Given the description of an element on the screen output the (x, y) to click on. 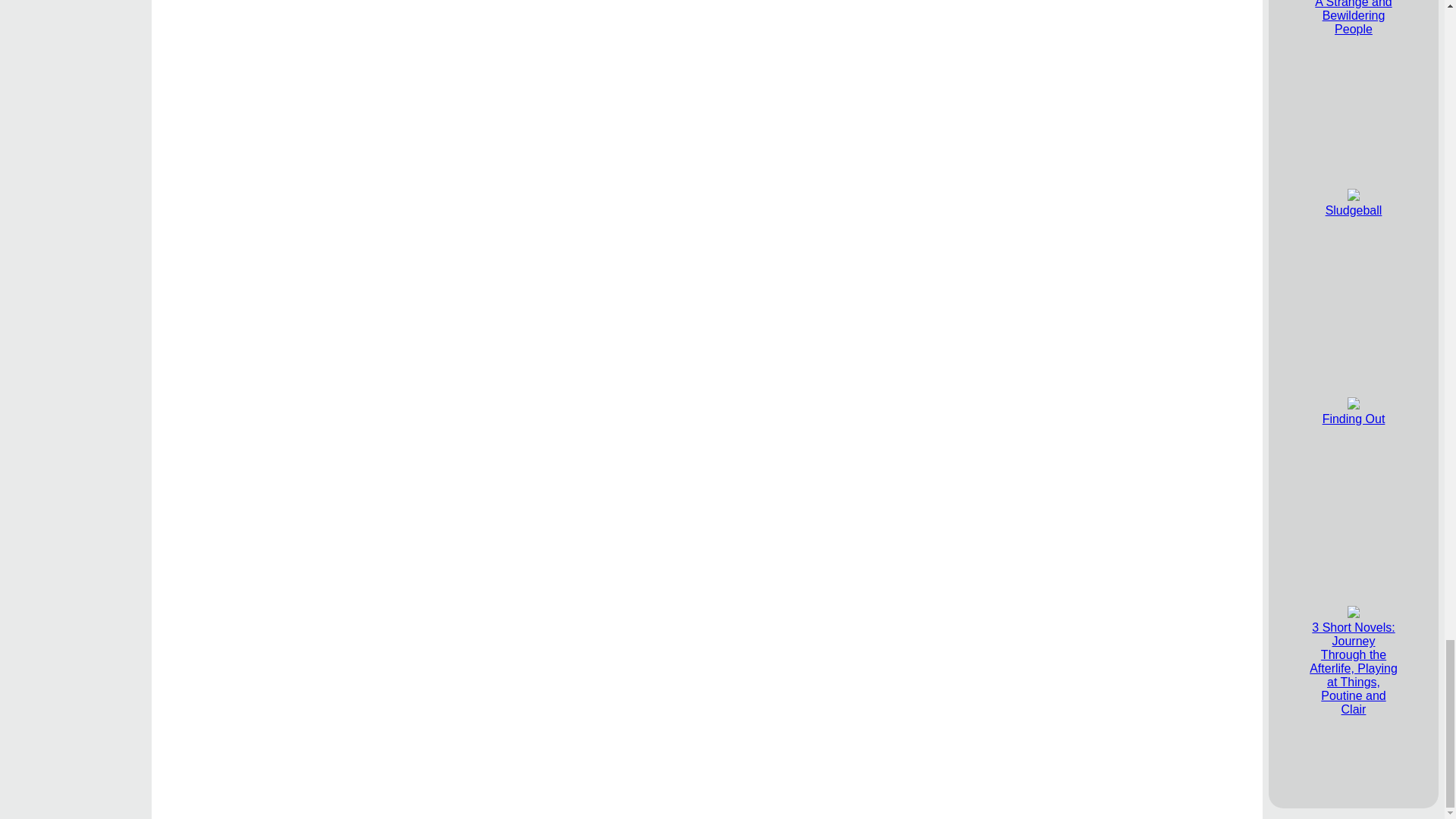
Sludgeball (1352, 203)
Finding Out (1354, 411)
A Strange and Bewildering People (1352, 18)
